Given the description of an element on the screen output the (x, y) to click on. 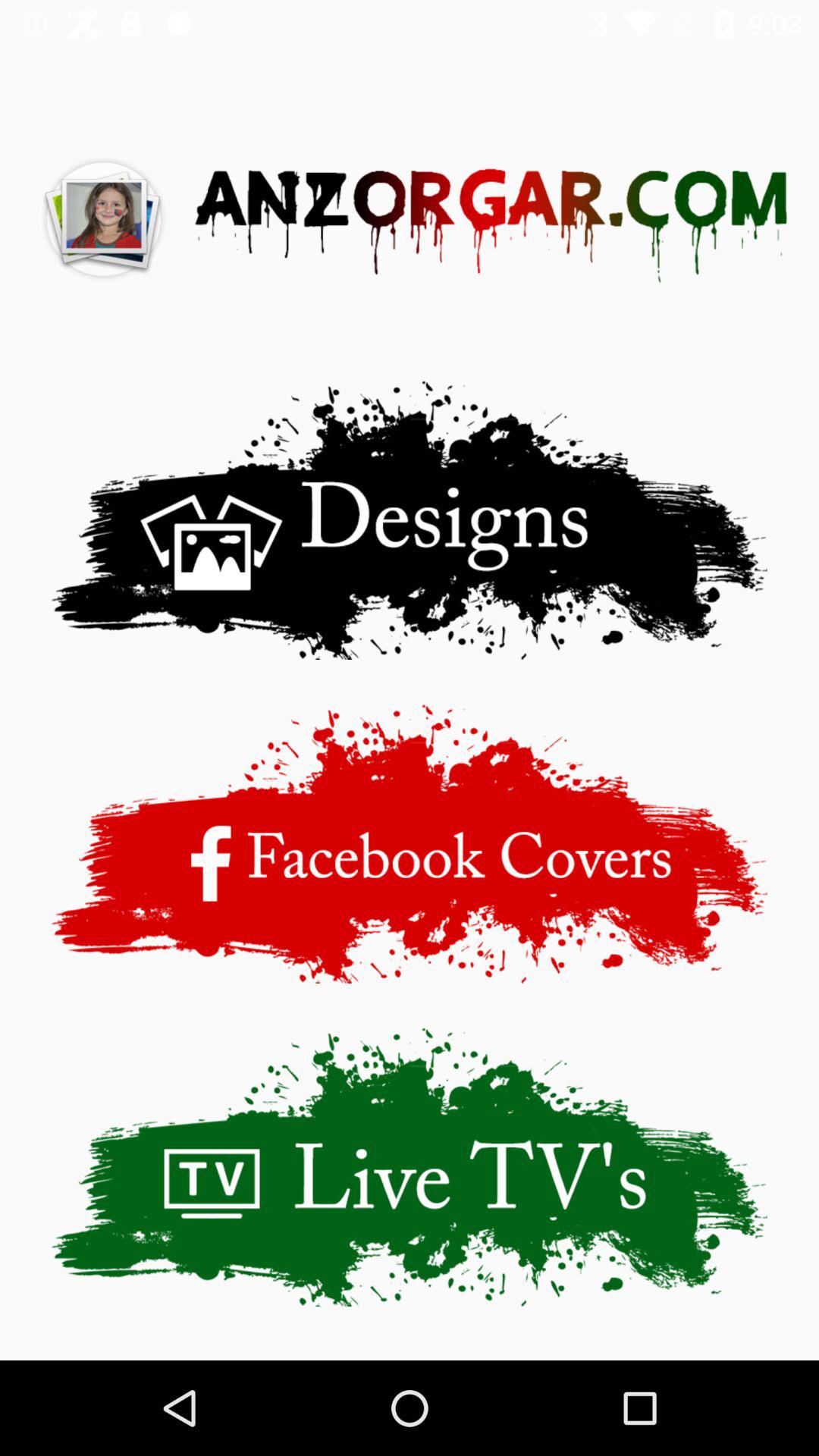
open live tv (409, 1166)
